Given the description of an element on the screen output the (x, y) to click on. 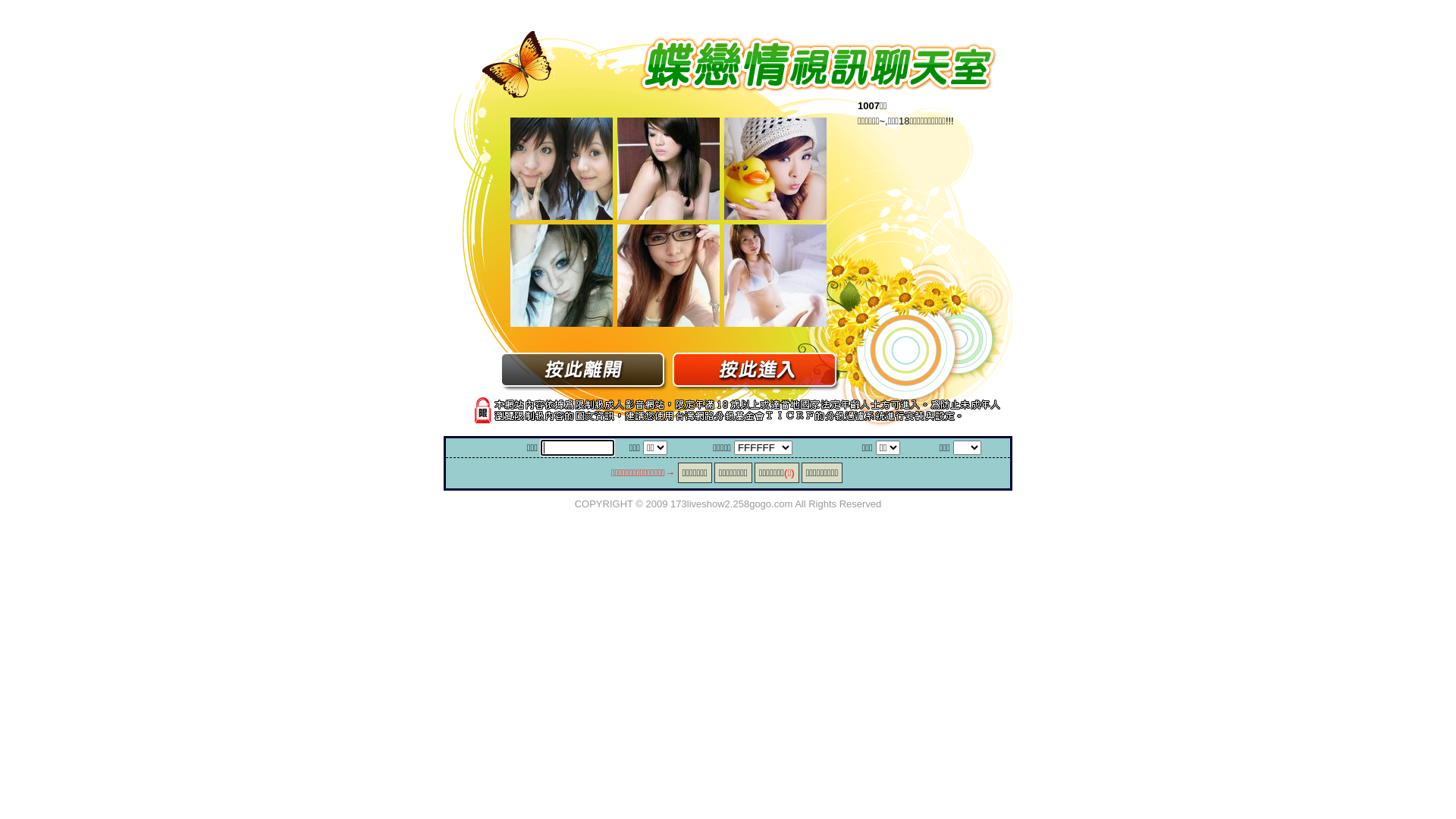
173liveshow2.258gogo.com Element type: text (731, 502)
